Given the description of an element on the screen output the (x, y) to click on. 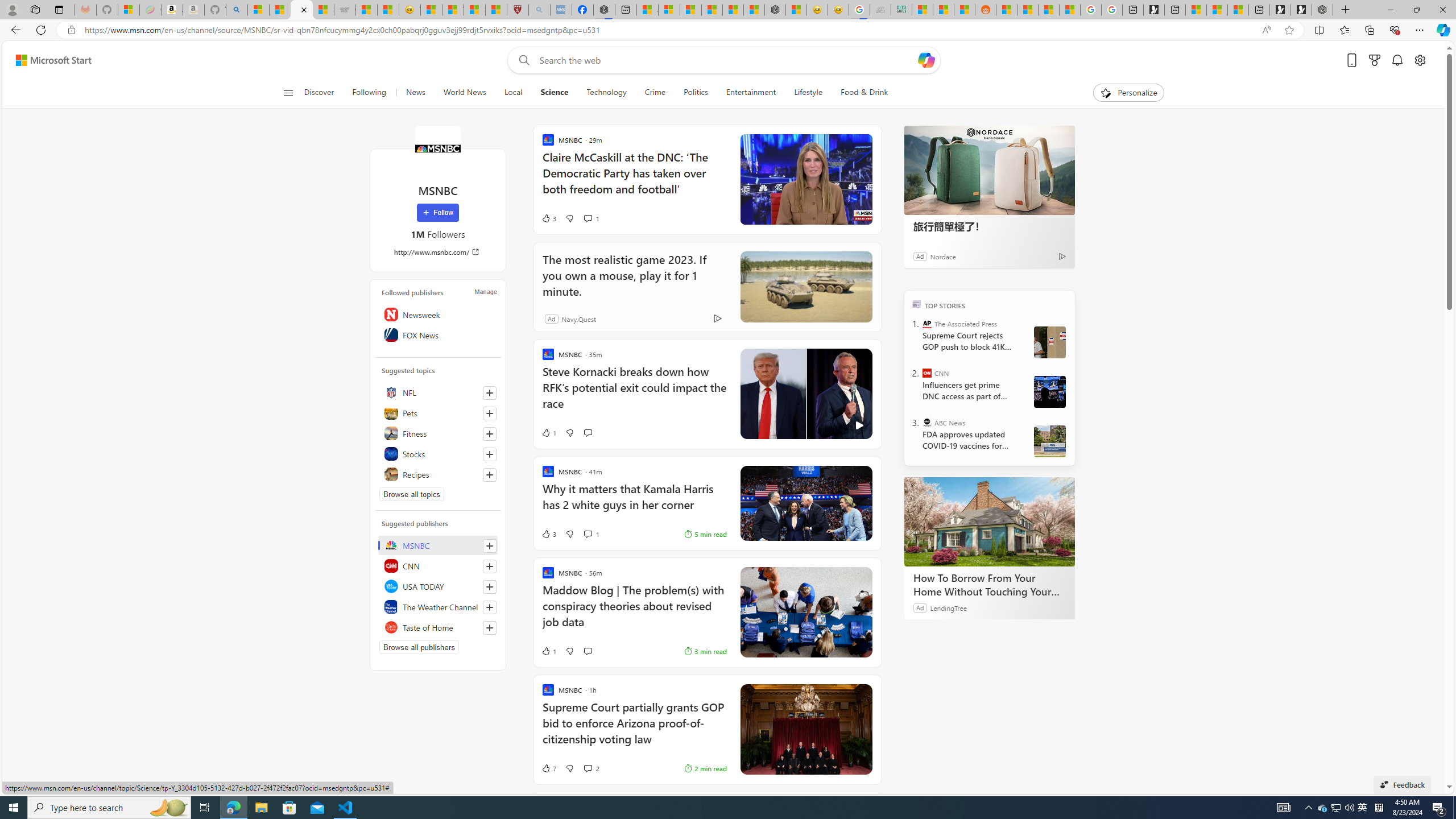
Local (512, 92)
Open Copilot (926, 59)
Technology (606, 92)
12 Popular Science Lies that Must be Corrected (496, 9)
Recipes - MSN (431, 9)
Combat Siege (345, 9)
Navy.Quest (578, 318)
Politics (695, 92)
